Given the description of an element on the screen output the (x, y) to click on. 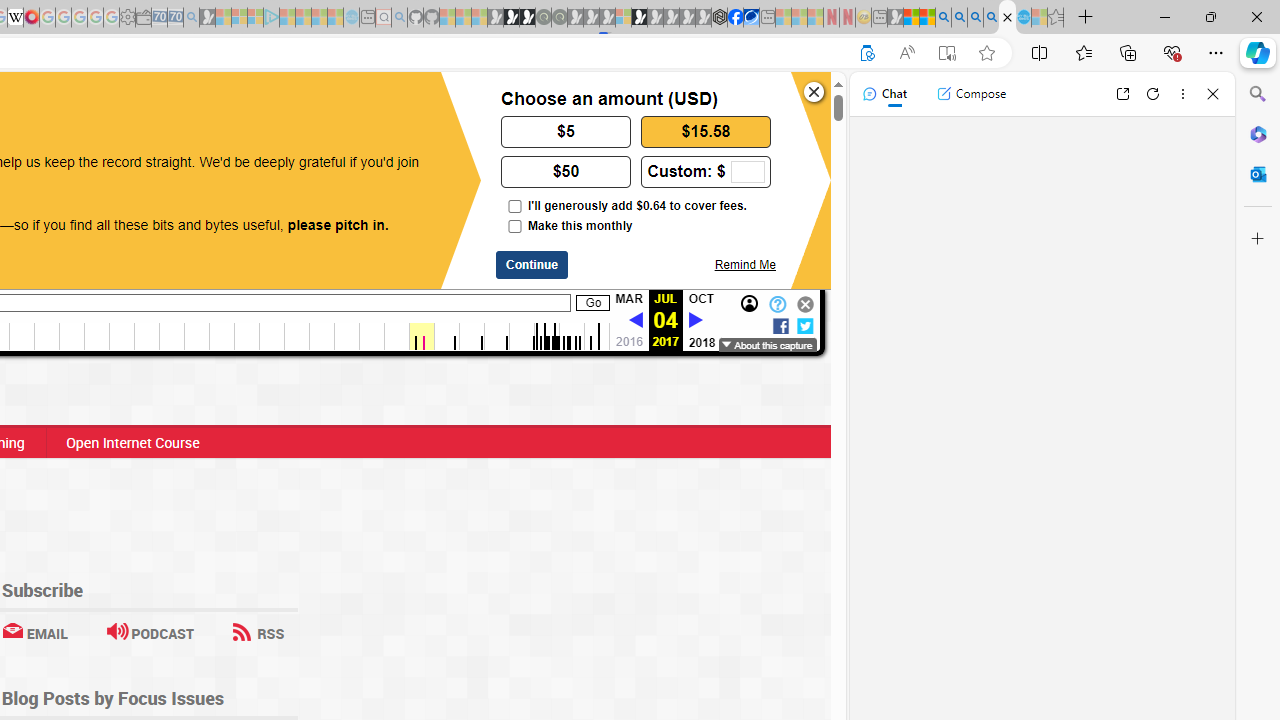
Services - Maintenance | Sky Blue Bikes - Sky Blue Bikes (1023, 17)
Support Internet Archive? (867, 53)
Sign in to your account - Sleeping (623, 17)
